Given the description of an element on the screen output the (x, y) to click on. 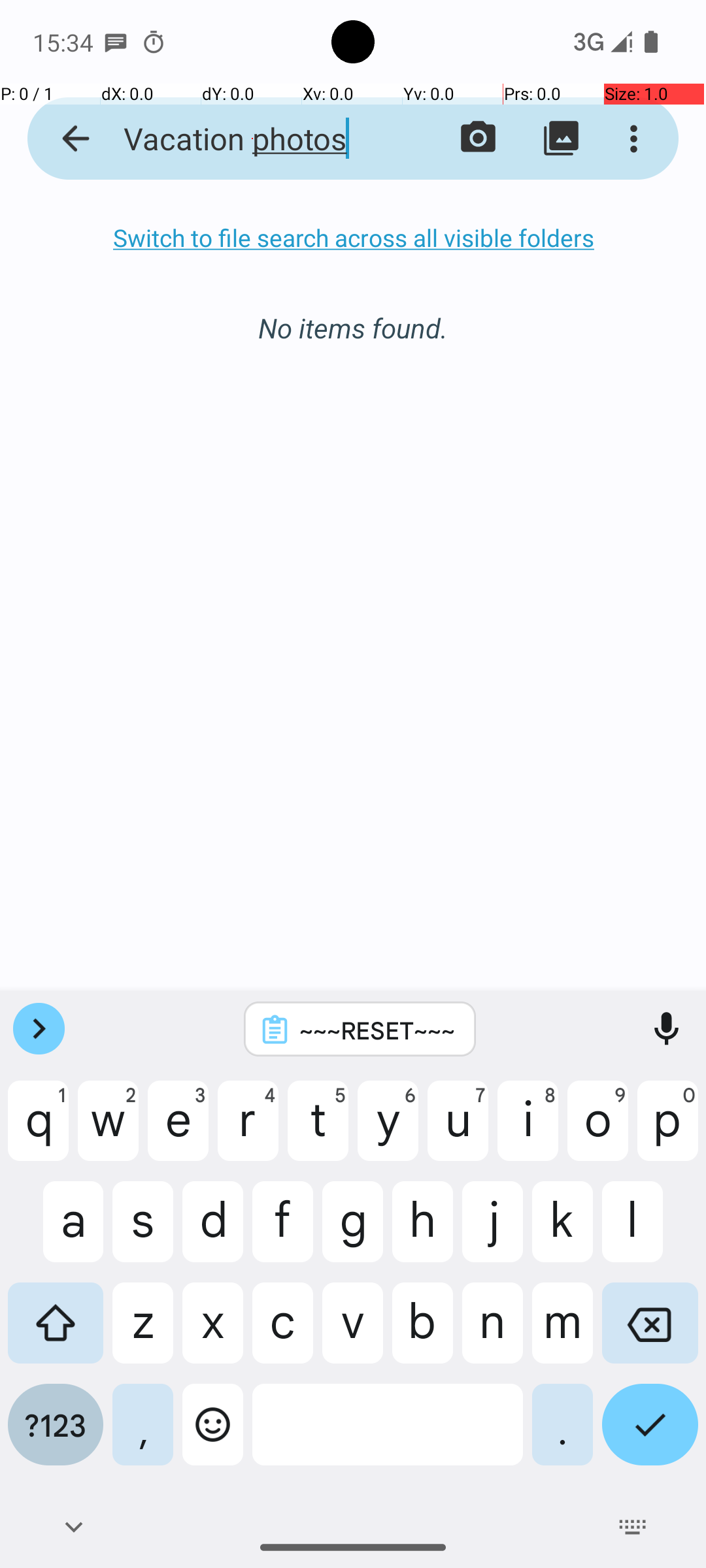
Switch to file search across all visible folders Element type: android.widget.TextView (353, 237)
Vacation photos Element type: android.widget.EditText (252, 138)
